Given the description of an element on the screen output the (x, y) to click on. 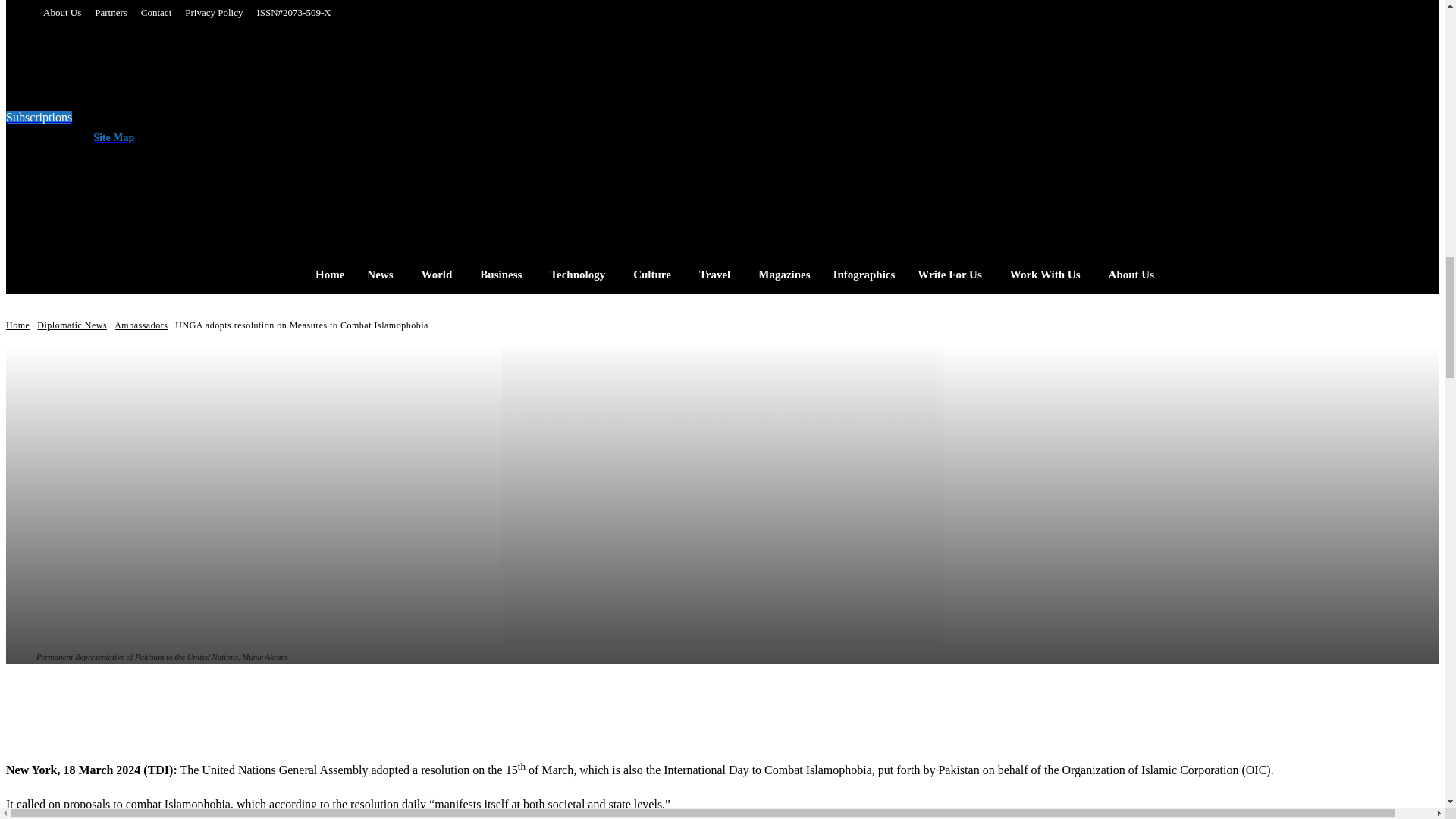
Instagram (352, 131)
View all posts in Ambassadors (141, 325)
Subscriptions (38, 116)
Twitter (412, 131)
Facebook (321, 131)
View all posts in Diplomatic News (71, 325)
Site Map (110, 137)
Linkedin (382, 131)
Youtube (443, 131)
